Given the description of an element on the screen output the (x, y) to click on. 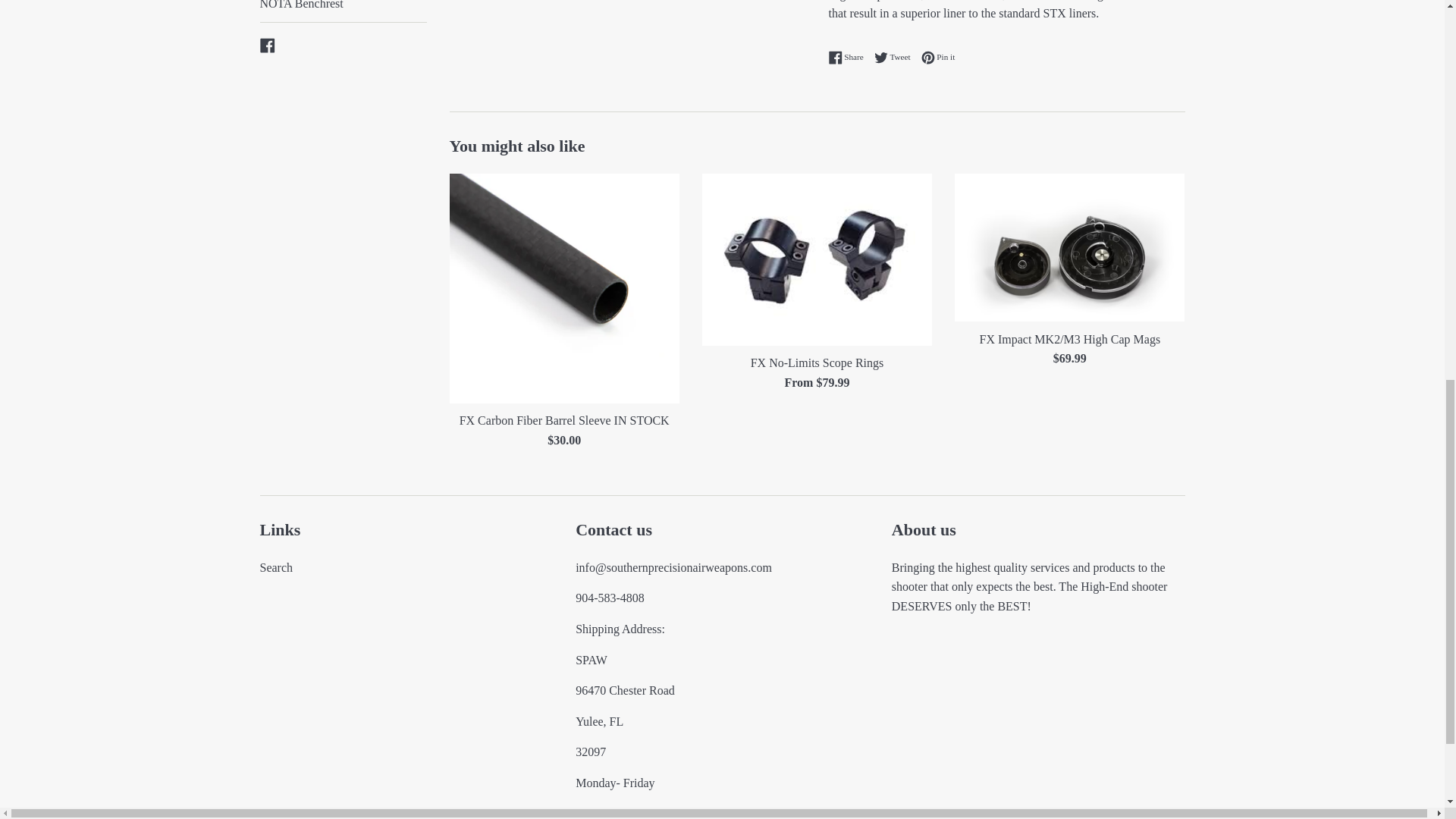
FX Carbon Fiber Barrel Sleeve IN STOCK (563, 288)
Share on Facebook (849, 57)
Tweet on Twitter (896, 57)
FX No-Limits Scope Rings (816, 259)
Pin on Pinterest (938, 57)
Southern Precision Air Weapons LLC. on Facebook (267, 43)
